Given the description of an element on the screen output the (x, y) to click on. 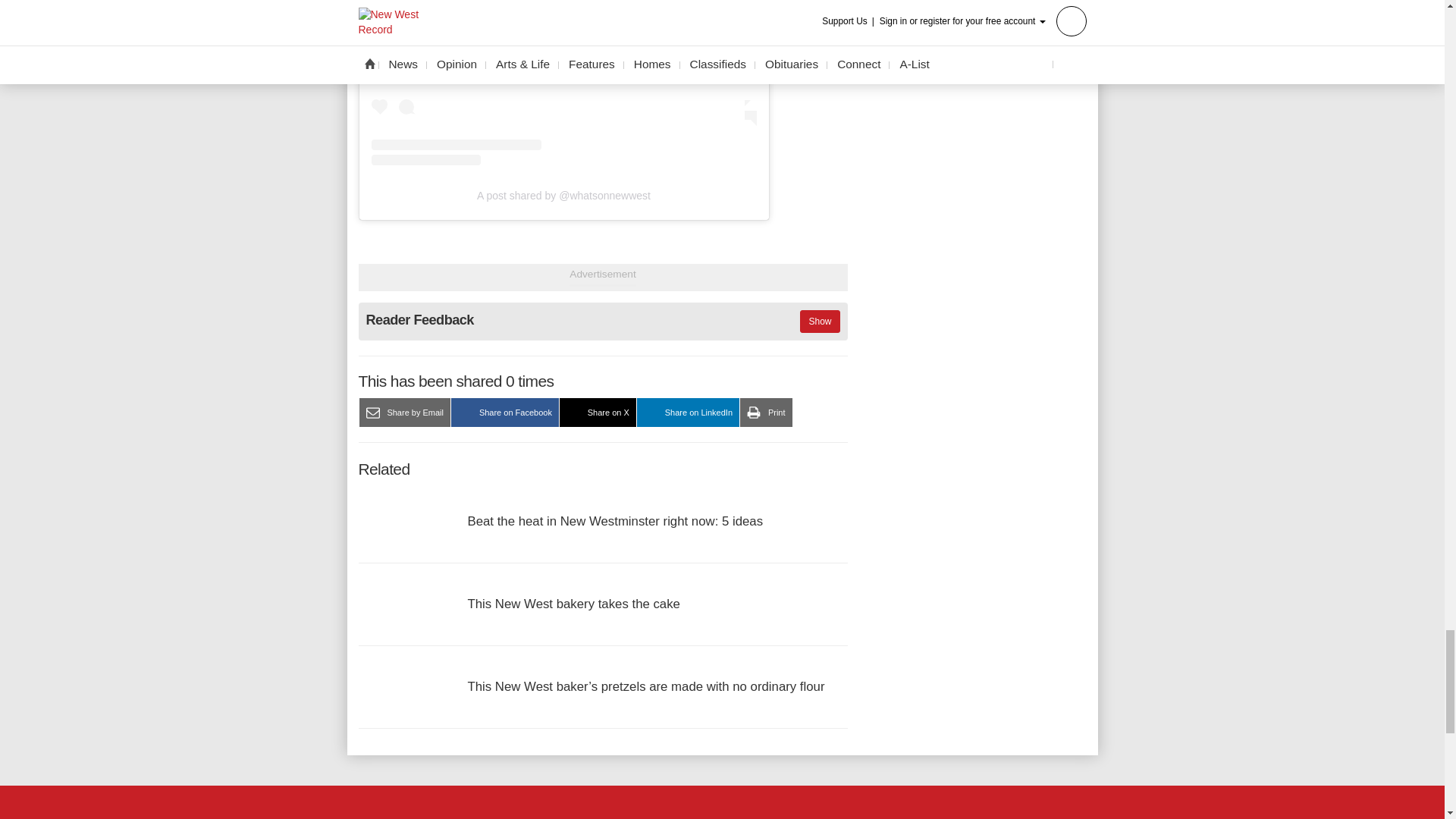
X (721, 814)
Instagram (760, 814)
Facebook (683, 814)
